Given the description of an element on the screen output the (x, y) to click on. 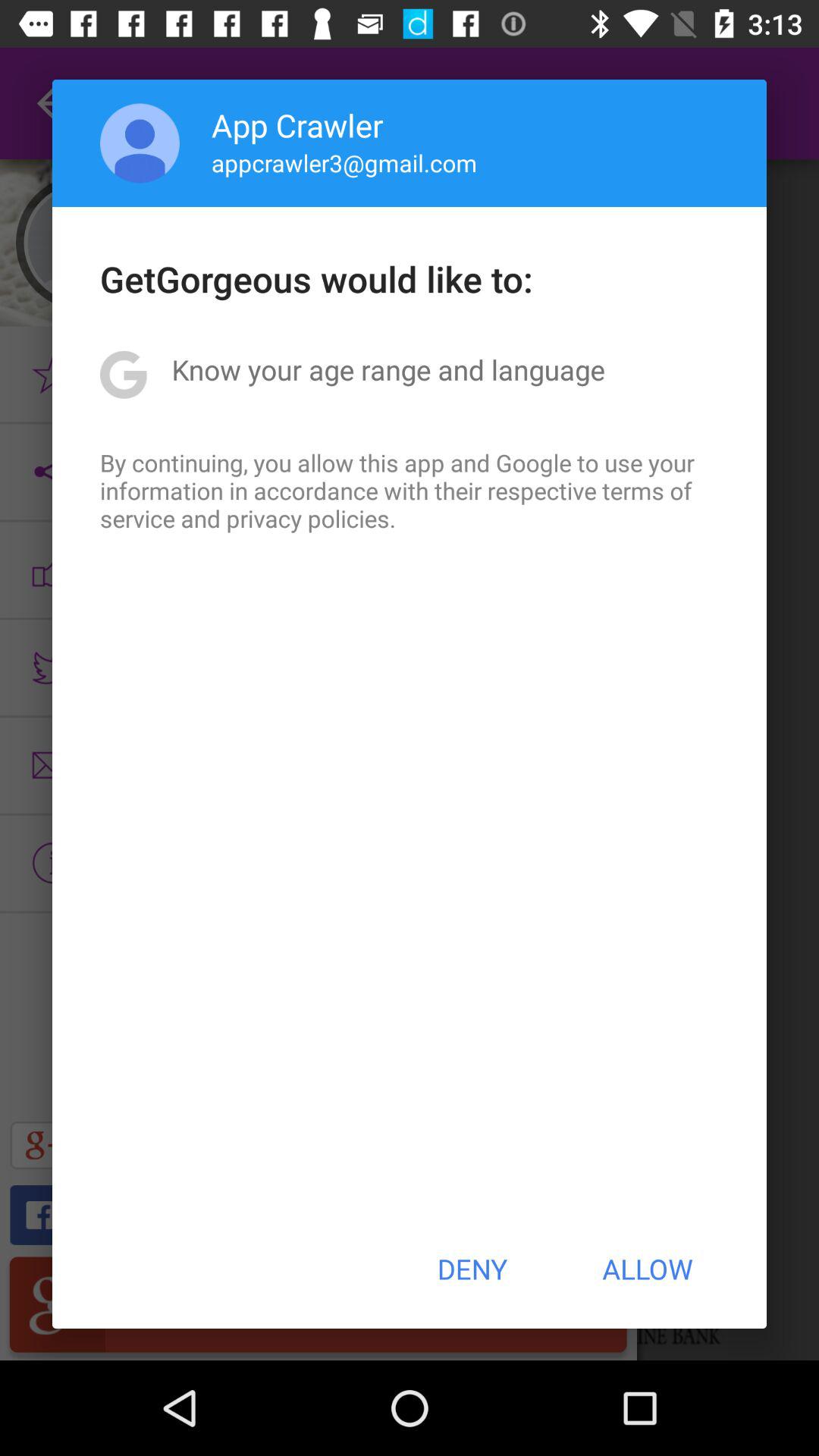
launch the item next to the allow icon (471, 1268)
